Given the description of an element on the screen output the (x, y) to click on. 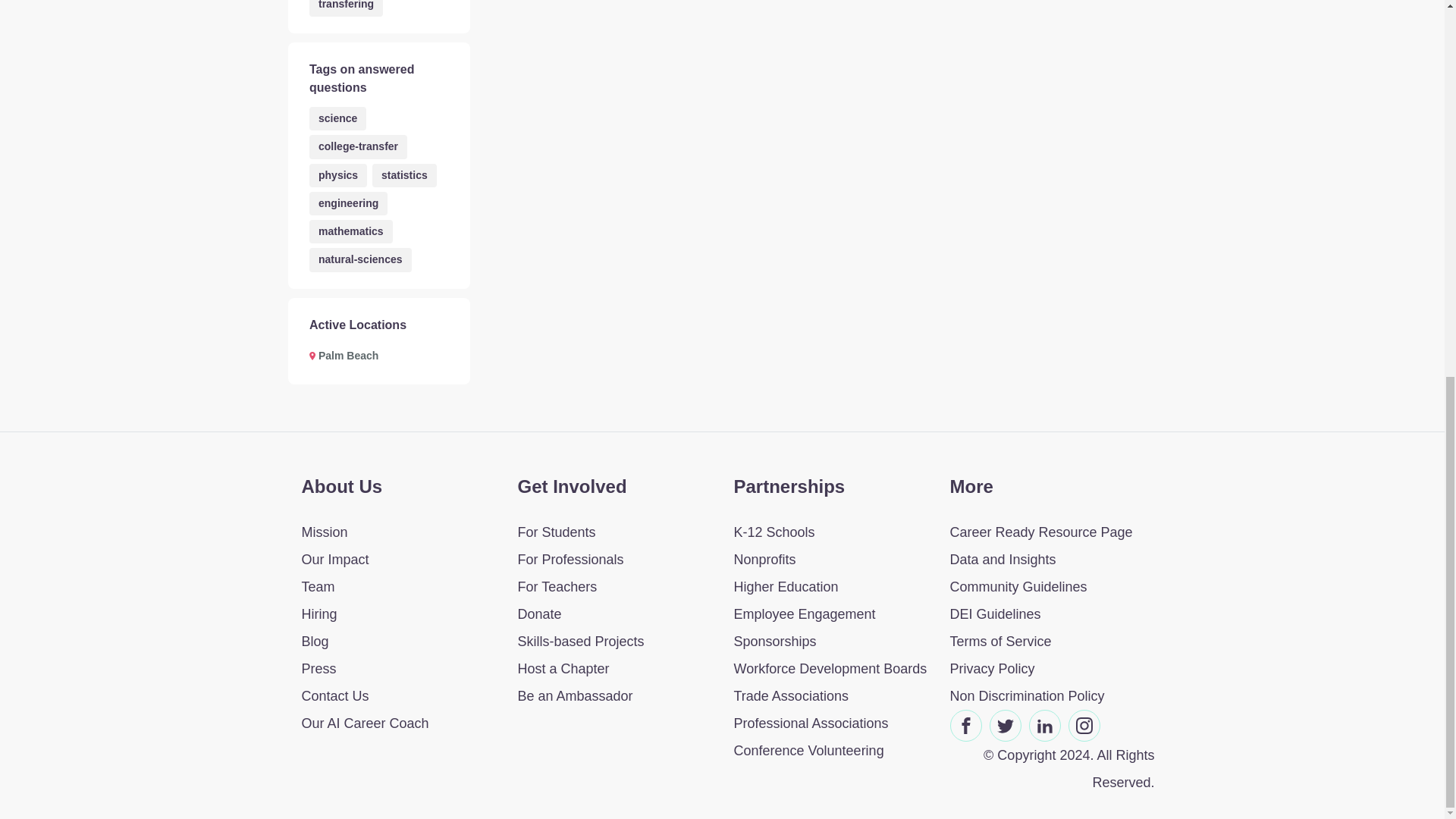
See Career Questions tagged 'Physics' (337, 174)
Palm Beach (343, 355)
mathematics (350, 231)
physics (337, 174)
engineering (347, 203)
See Career Questions tagged 'Natural Sciences' (360, 259)
See Career Questions tagged 'Engineering' (347, 203)
science (337, 118)
See Career Questions tagged 'Science' (337, 118)
college-transfer (357, 146)
See Career Questions tagged 'Statistics' (404, 174)
See Career Questions tagged 'Mathematics' (350, 231)
transfering (345, 7)
statistics (404, 174)
See Career Questions tagged 'College Transfer' (357, 146)
